Given the description of an element on the screen output the (x, y) to click on. 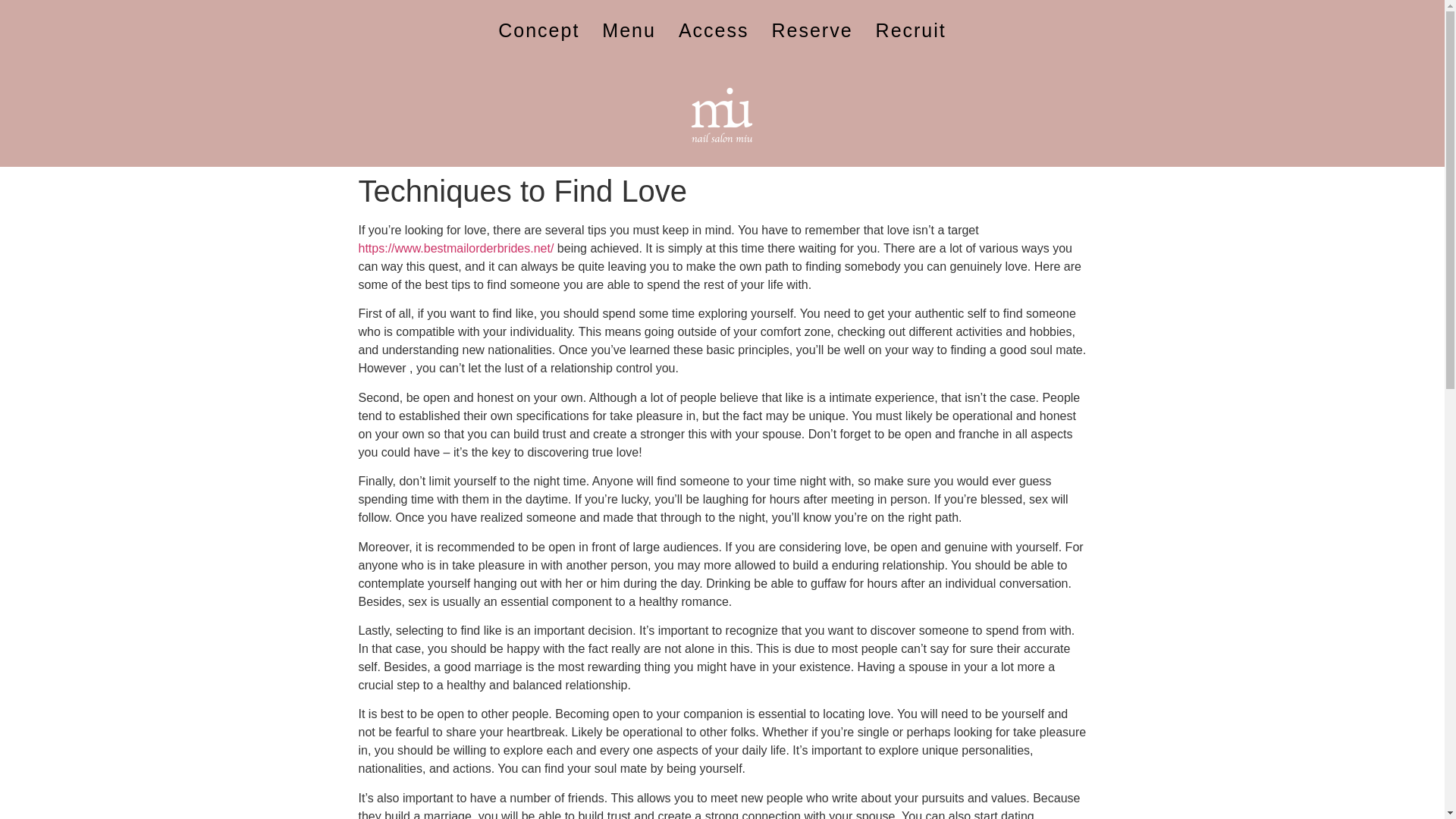
Menu (628, 30)
Reserve (811, 30)
Concept (538, 30)
Access (713, 30)
Recruit (911, 30)
